Given the description of an element on the screen output the (x, y) to click on. 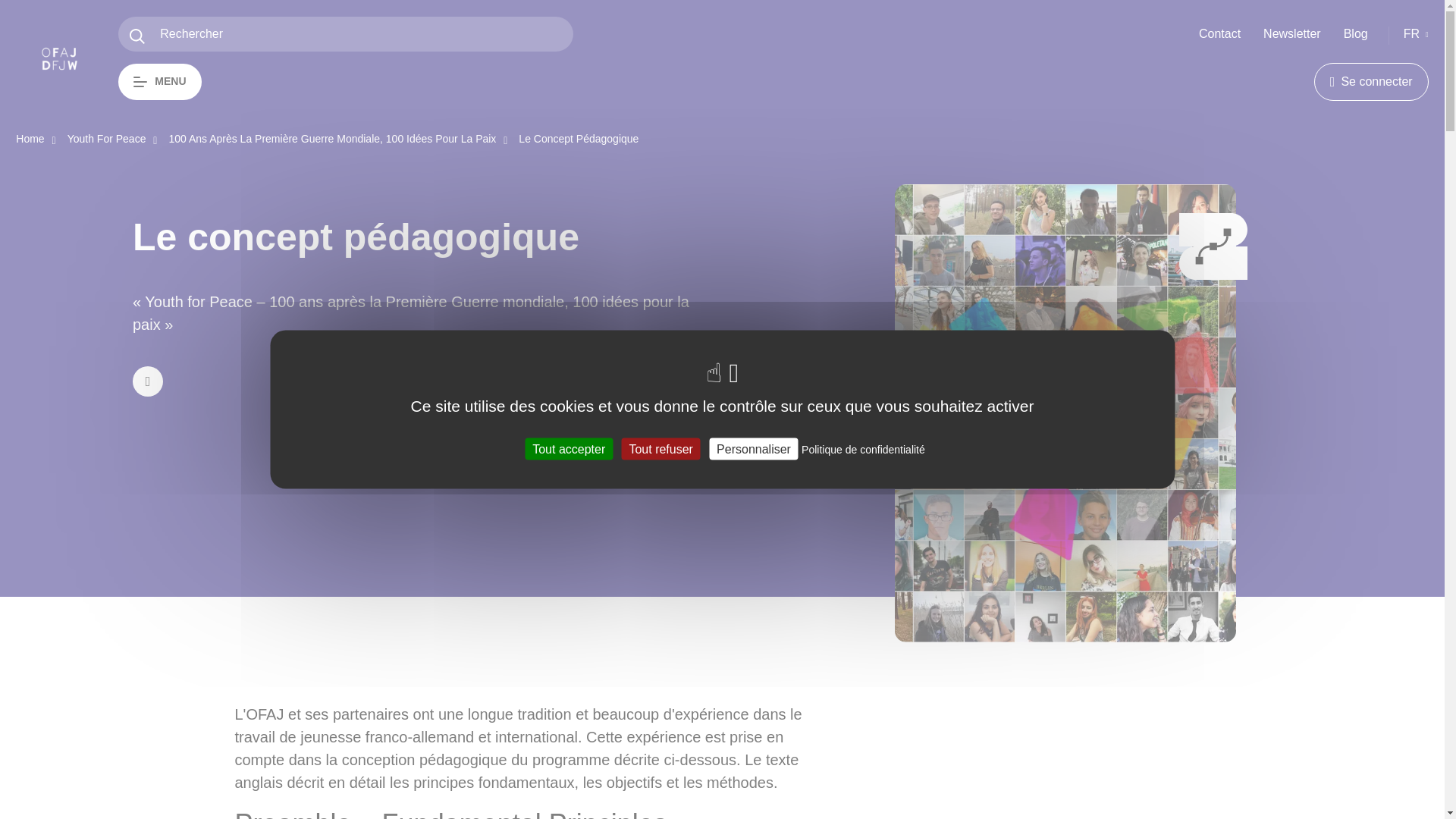
Blog (1355, 33)
MENU (158, 81)
Newsletter (1291, 33)
Contact (1219, 33)
Se connecter (1371, 82)
